Given the description of an element on the screen output the (x, y) to click on. 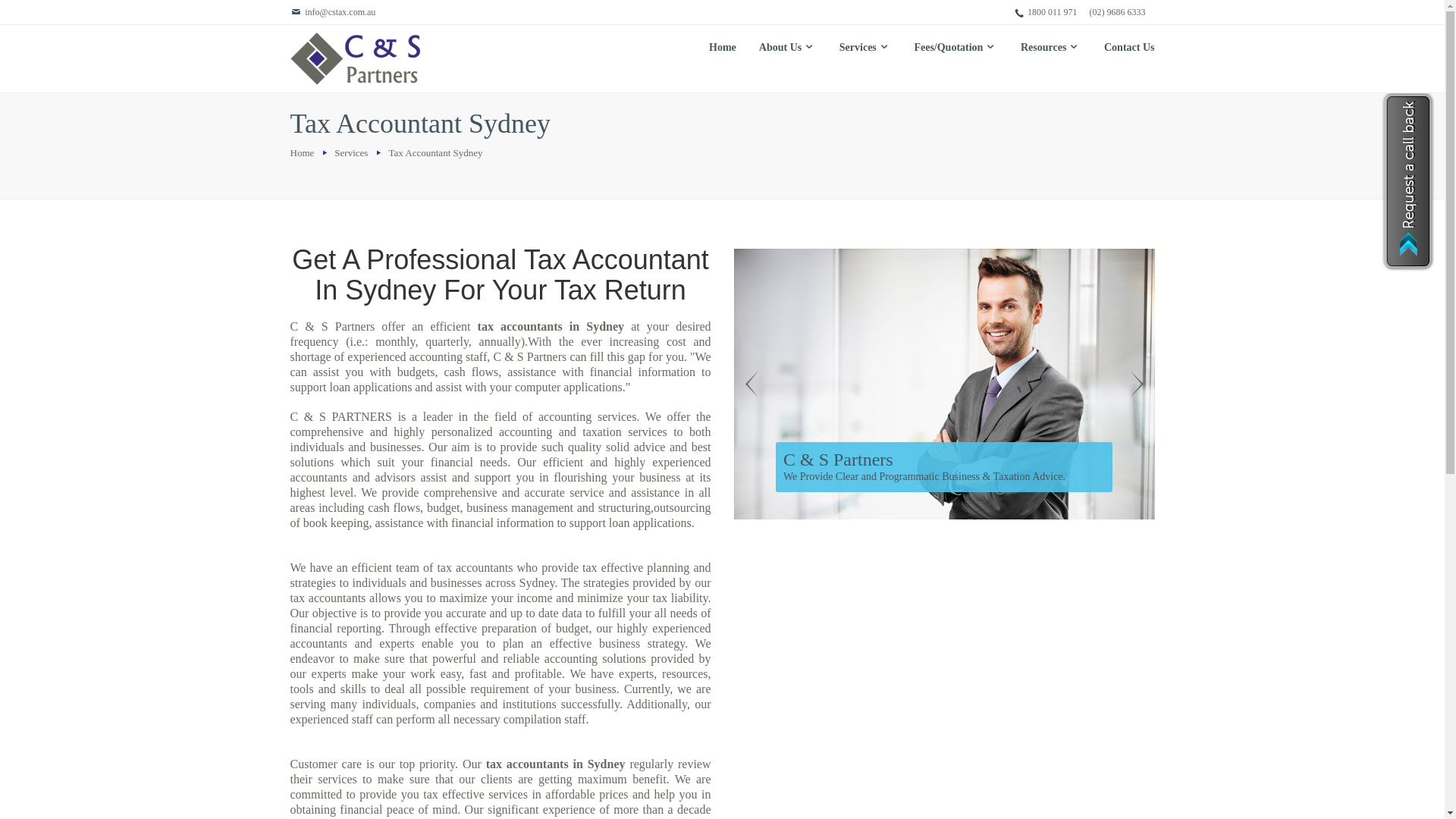
Home Element type: text (722, 47)
Fees/Quotation Element type: text (955, 47)
Home Element type: text (303, 152)
Services Element type: text (352, 152)
Contact Us Element type: text (1123, 47)
info@cstax.com.au Element type: text (332, 11)
Services Element type: text (865, 47)
Resources Element type: text (1050, 47)
About Us Element type: text (787, 47)
